Given the description of an element on the screen output the (x, y) to click on. 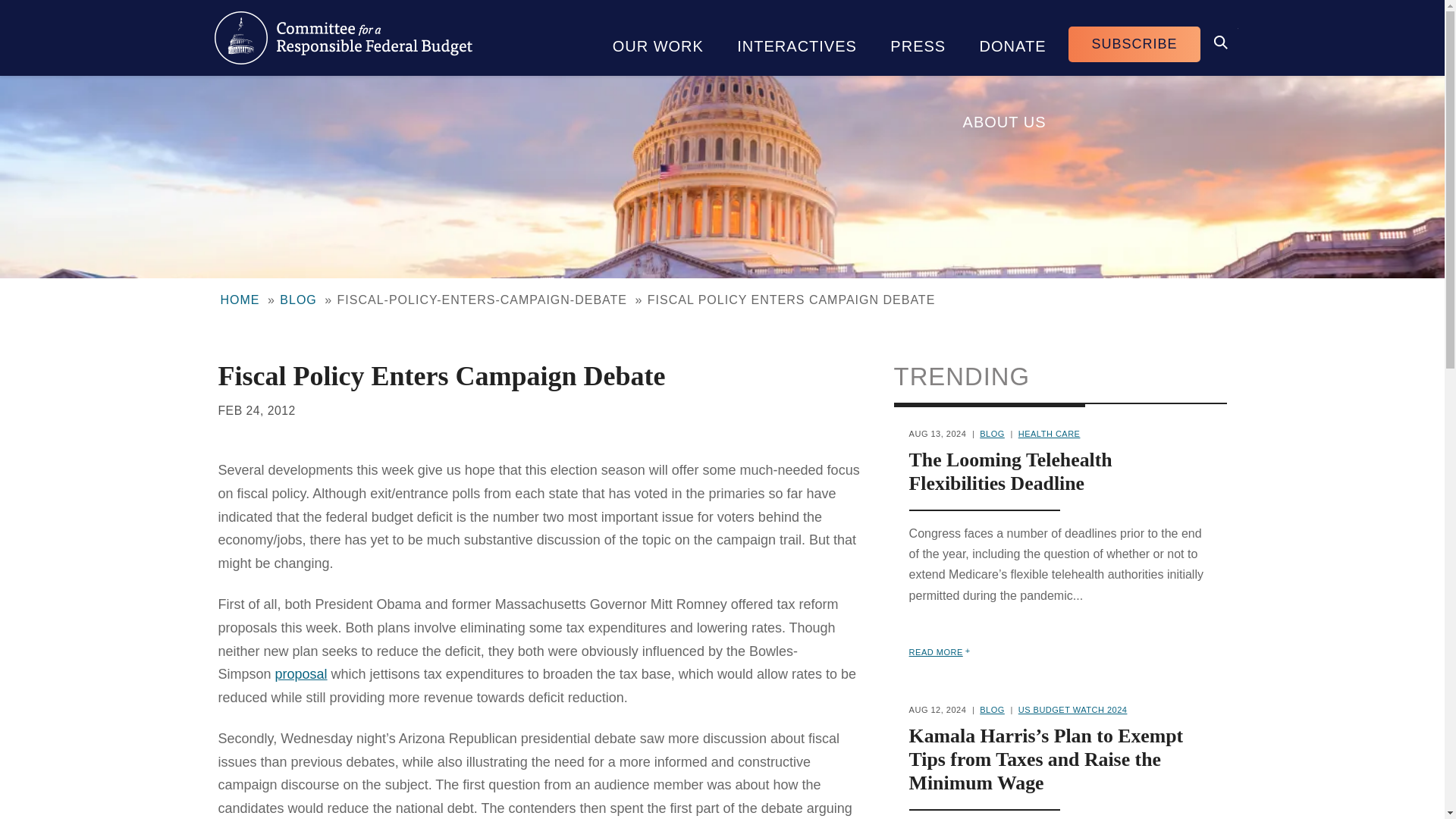
INTERACTIVES (797, 38)
DONATE (1012, 38)
PRESS (917, 38)
OUR WORK (657, 38)
ABOUT US (1004, 113)
Committee for a Responsible Federal Budget (342, 37)
